Given the description of an element on the screen output the (x, y) to click on. 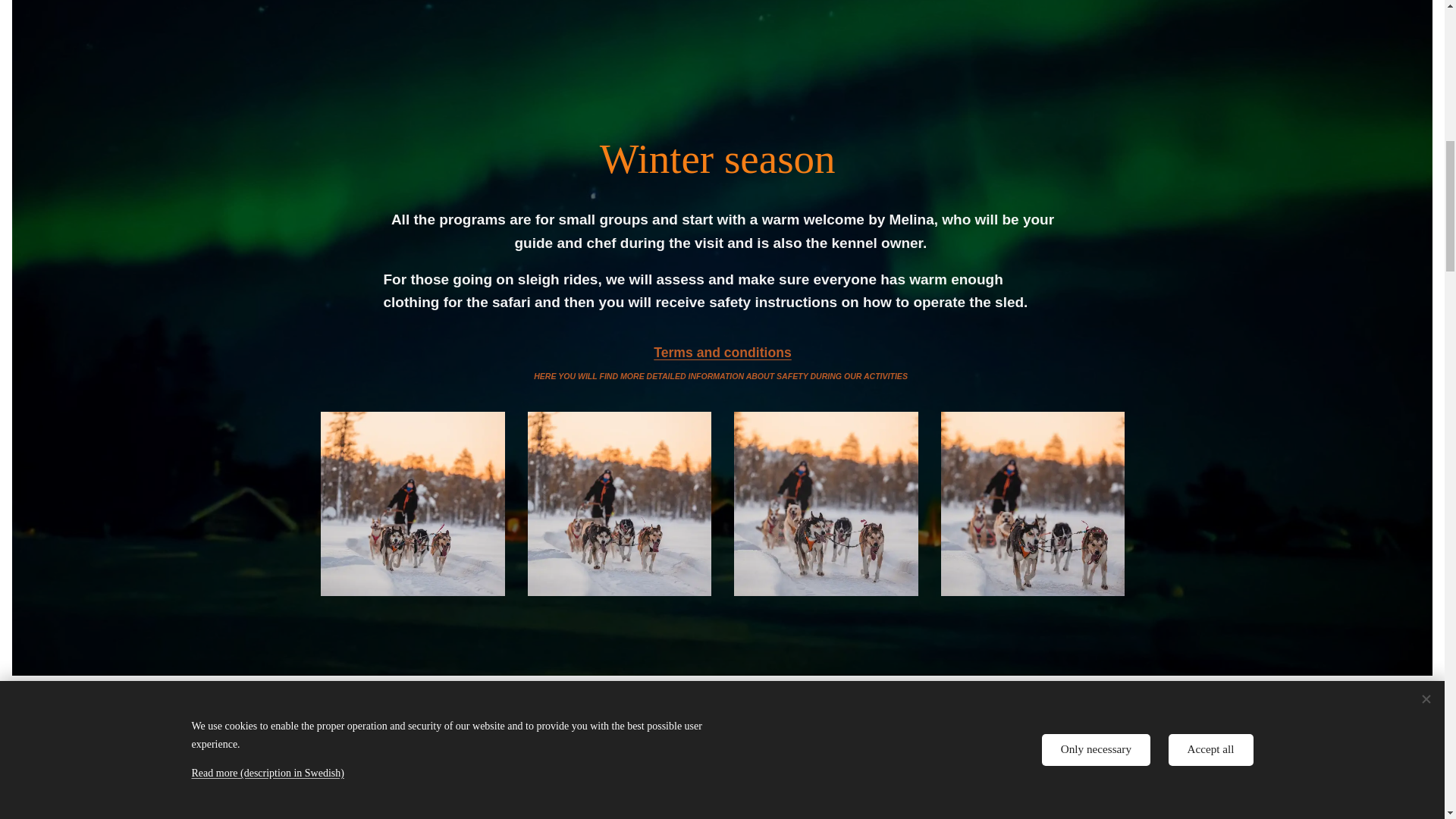
Terms and conditions (722, 352)
